Given the description of an element on the screen output the (x, y) to click on. 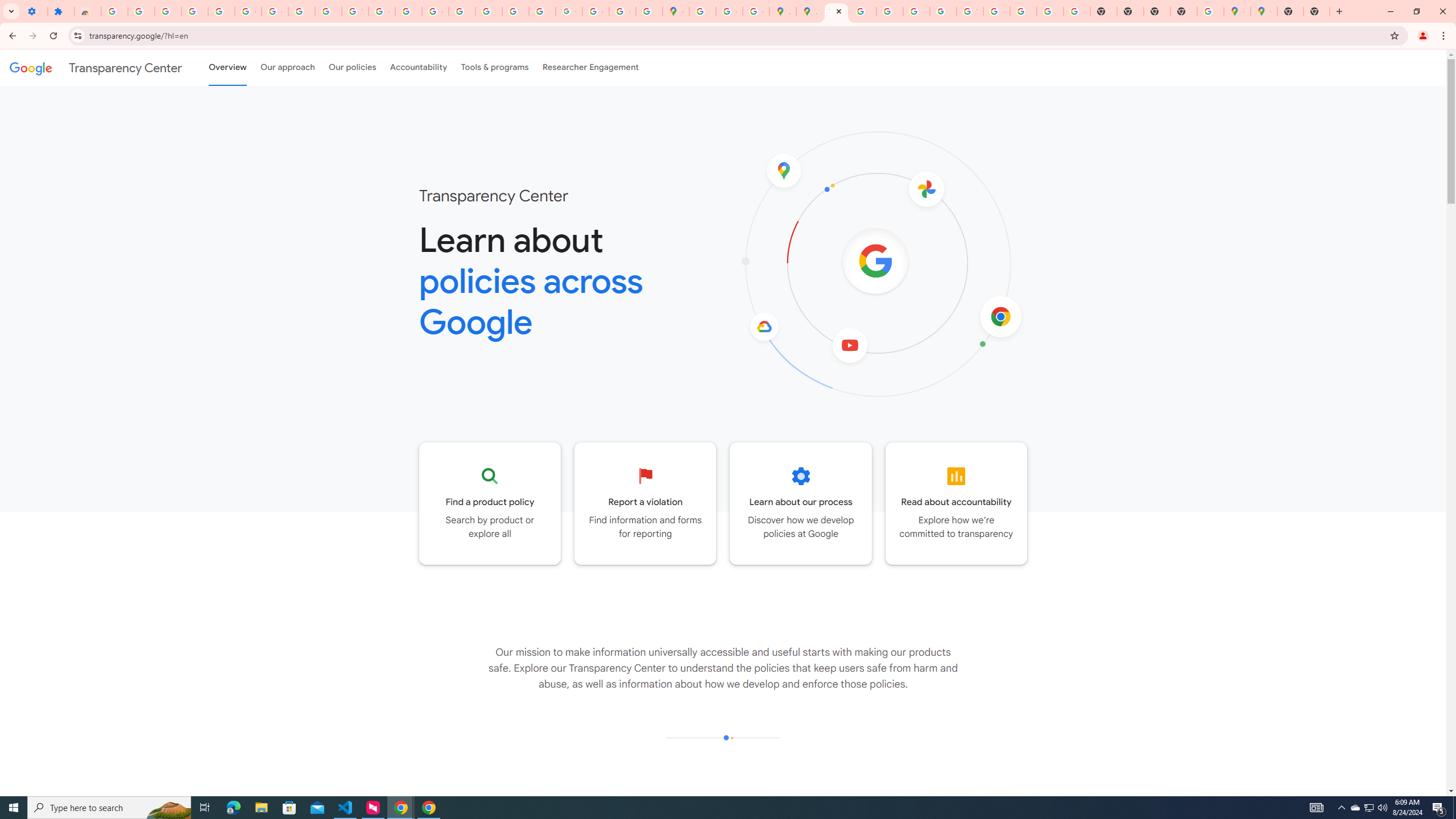
Privacy Help Center - Policies Help (462, 11)
Go to the Product policy page (490, 503)
Transparency Center (95, 67)
New Tab (1290, 11)
Settings - On startup (34, 11)
Reviews: Helix Fruit Jump Arcade Game (87, 11)
New Tab (1183, 11)
YouTube (355, 11)
Researcher Engagement (590, 67)
Browse Chrome as a guest - Computer - Google Chrome Help (996, 11)
